Given the description of an element on the screen output the (x, y) to click on. 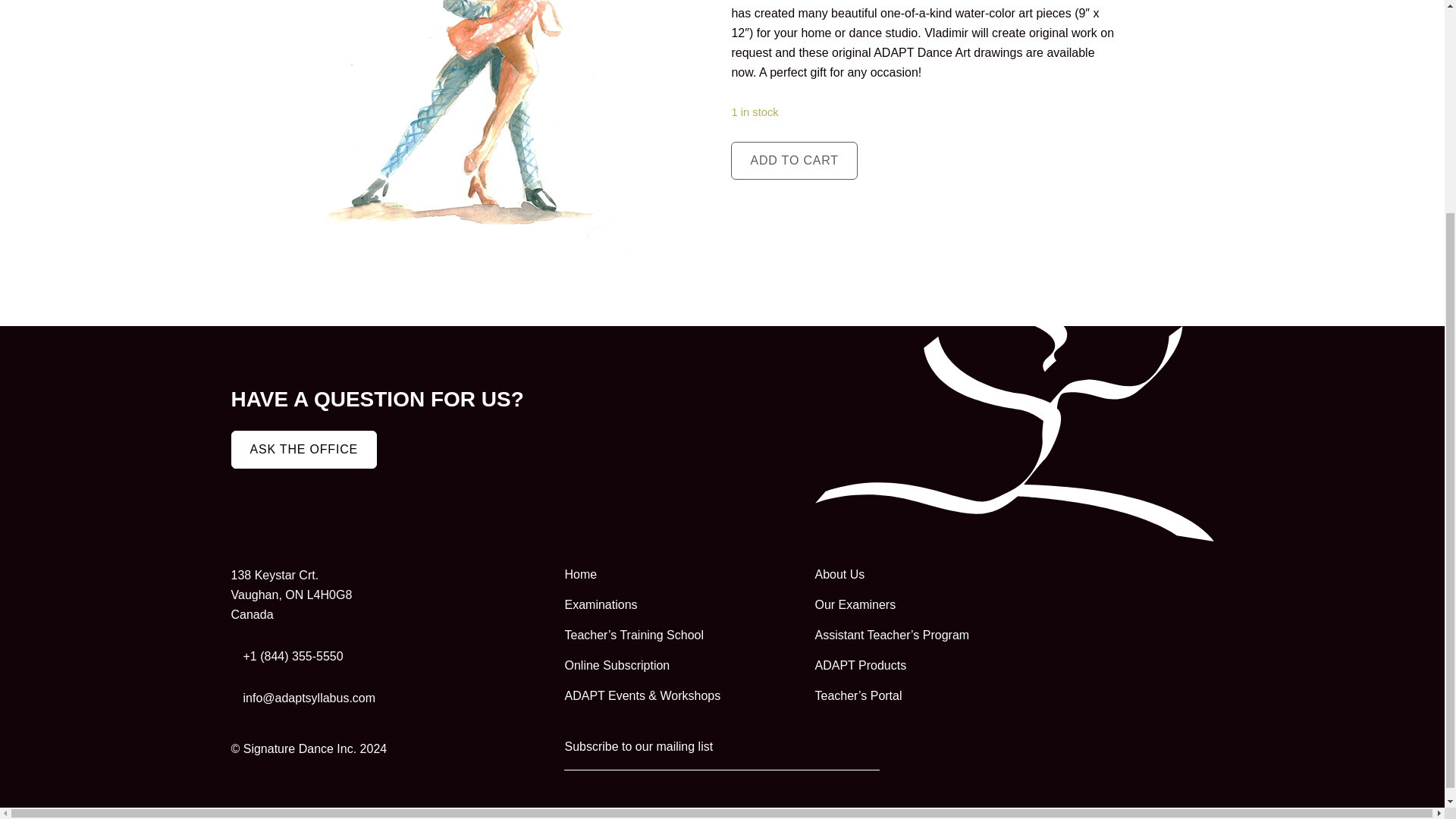
Examinations (680, 605)
About Us (929, 574)
ADD TO CART (793, 160)
Our Examiners (929, 605)
Online Subscription (680, 665)
ADAPT Products (929, 665)
Home (680, 574)
ASK THE OFFICE (302, 449)
